Given the description of an element on the screen output the (x, y) to click on. 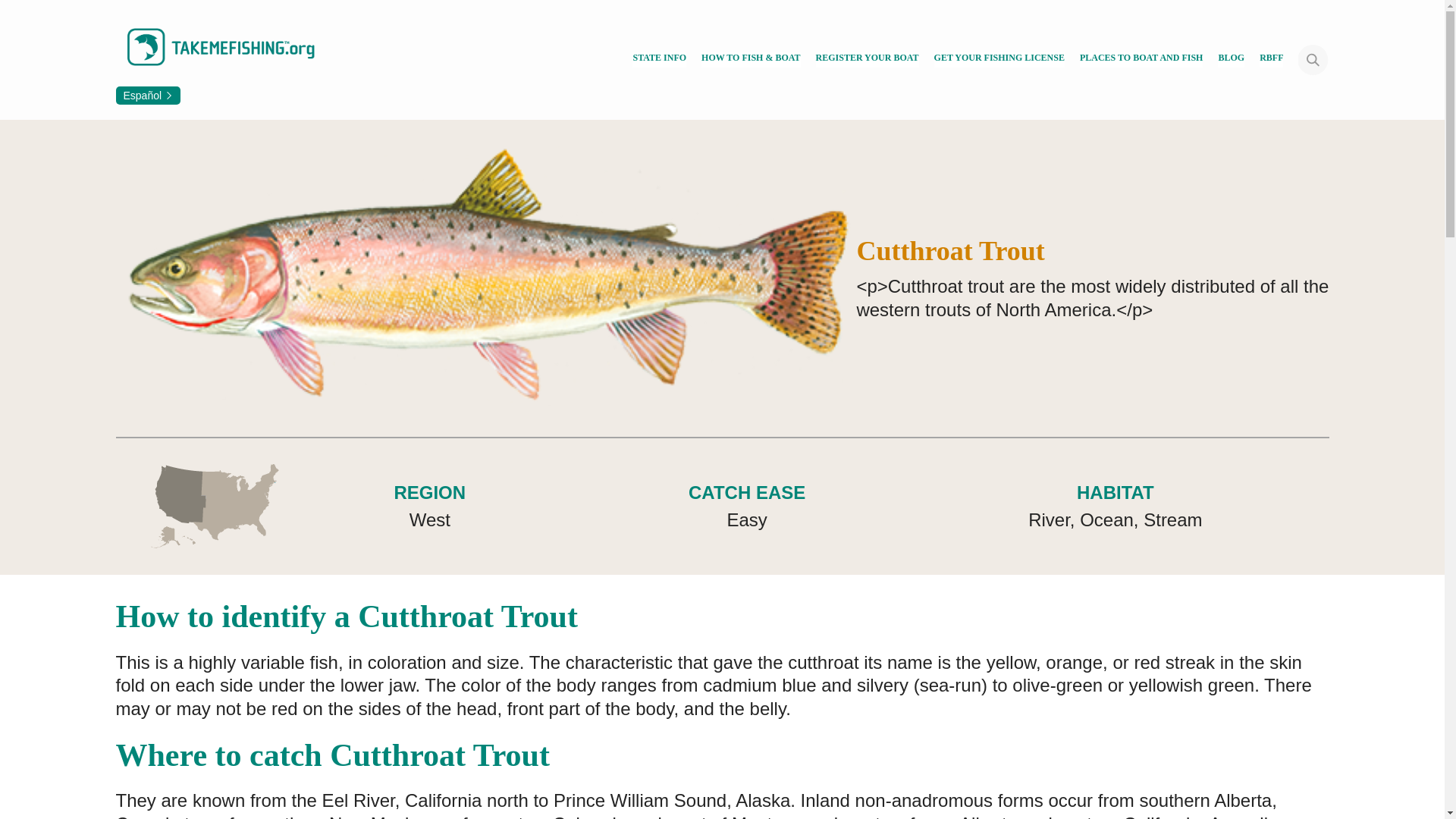
GET YOUR FISHING LICENSE (999, 59)
Places To Boat And Fish (1142, 59)
Blog (1230, 59)
BLOG (1230, 59)
RBFF (1270, 59)
RBFF (1270, 59)
PLACES TO BOAT AND FISH (1142, 59)
Register Your Boat (866, 59)
Get Your Fishing License (999, 59)
REGISTER YOUR BOAT (866, 59)
